Given the description of an element on the screen output the (x, y) to click on. 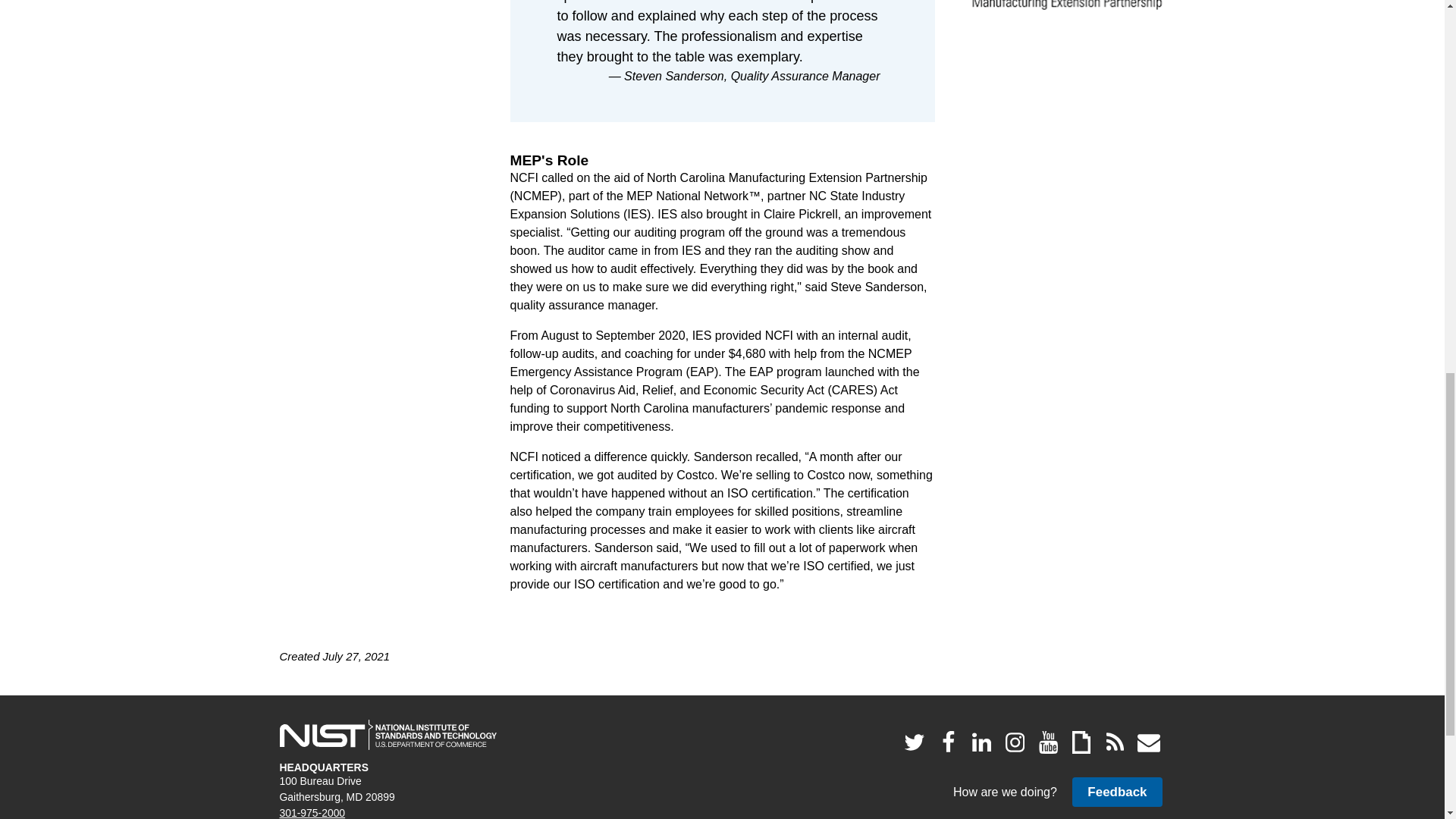
National Institute of Standards and Technology (387, 734)
Provide feedback (1116, 791)
